Given the description of an element on the screen output the (x, y) to click on. 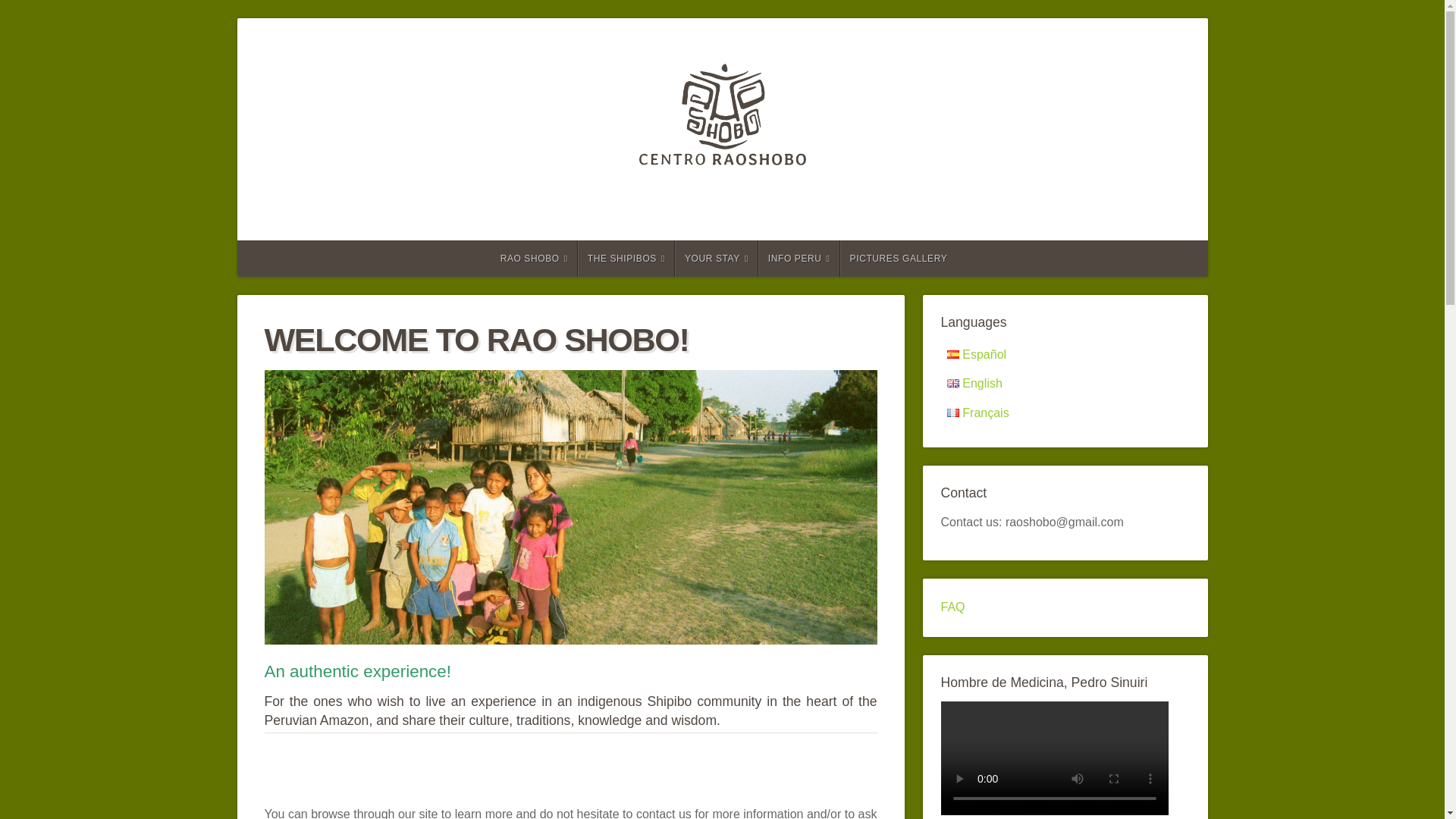
THE SHIPIBOS (626, 258)
English (973, 382)
YOUR STAY (716, 258)
FAQ (951, 606)
English (952, 383)
PICTURES GALLERY (898, 258)
INFO PERU (799, 258)
RAO SHOBO (532, 258)
